Given the description of an element on the screen output the (x, y) to click on. 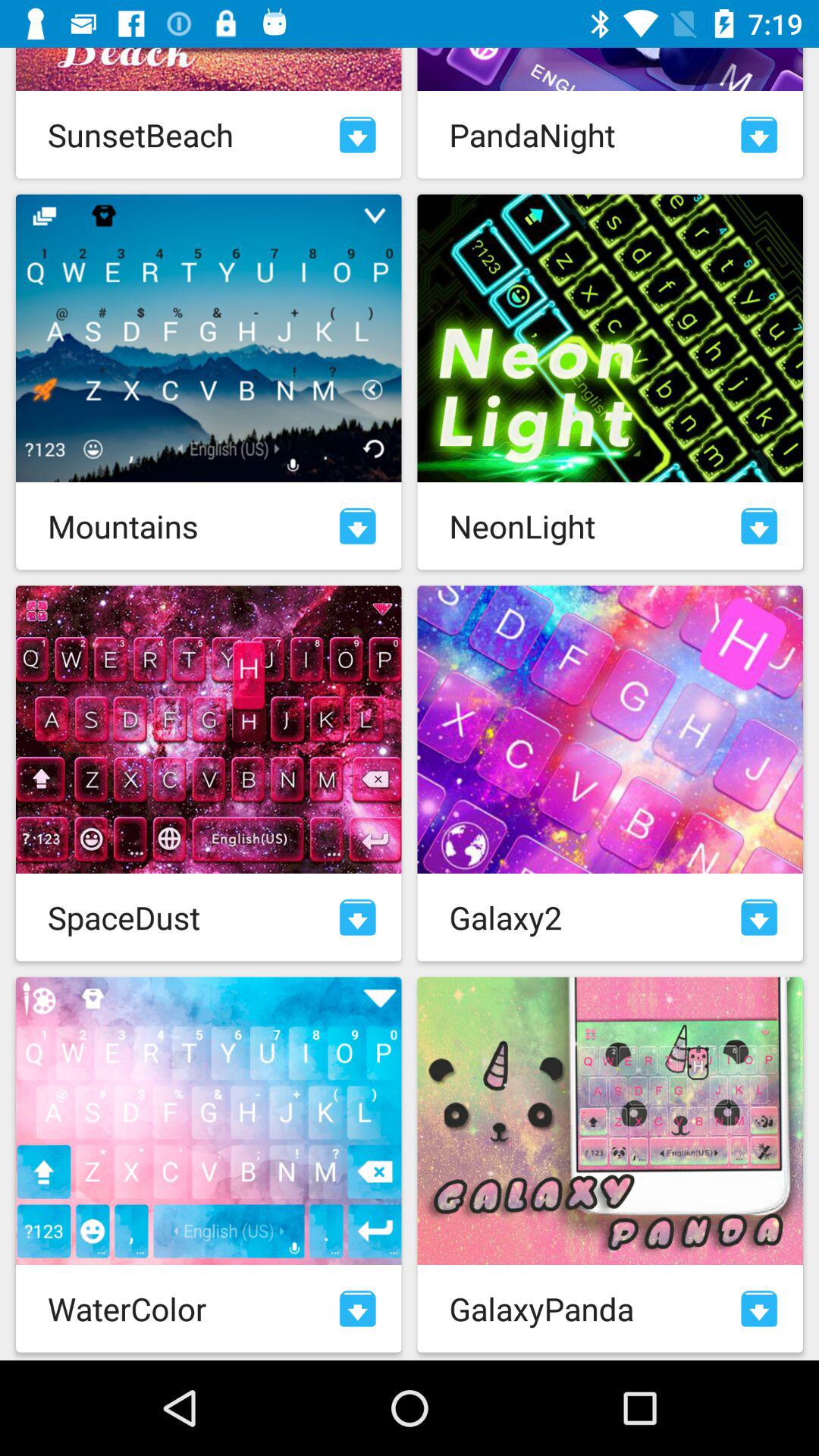
download theme (759, 1308)
